Given the description of an element on the screen output the (x, y) to click on. 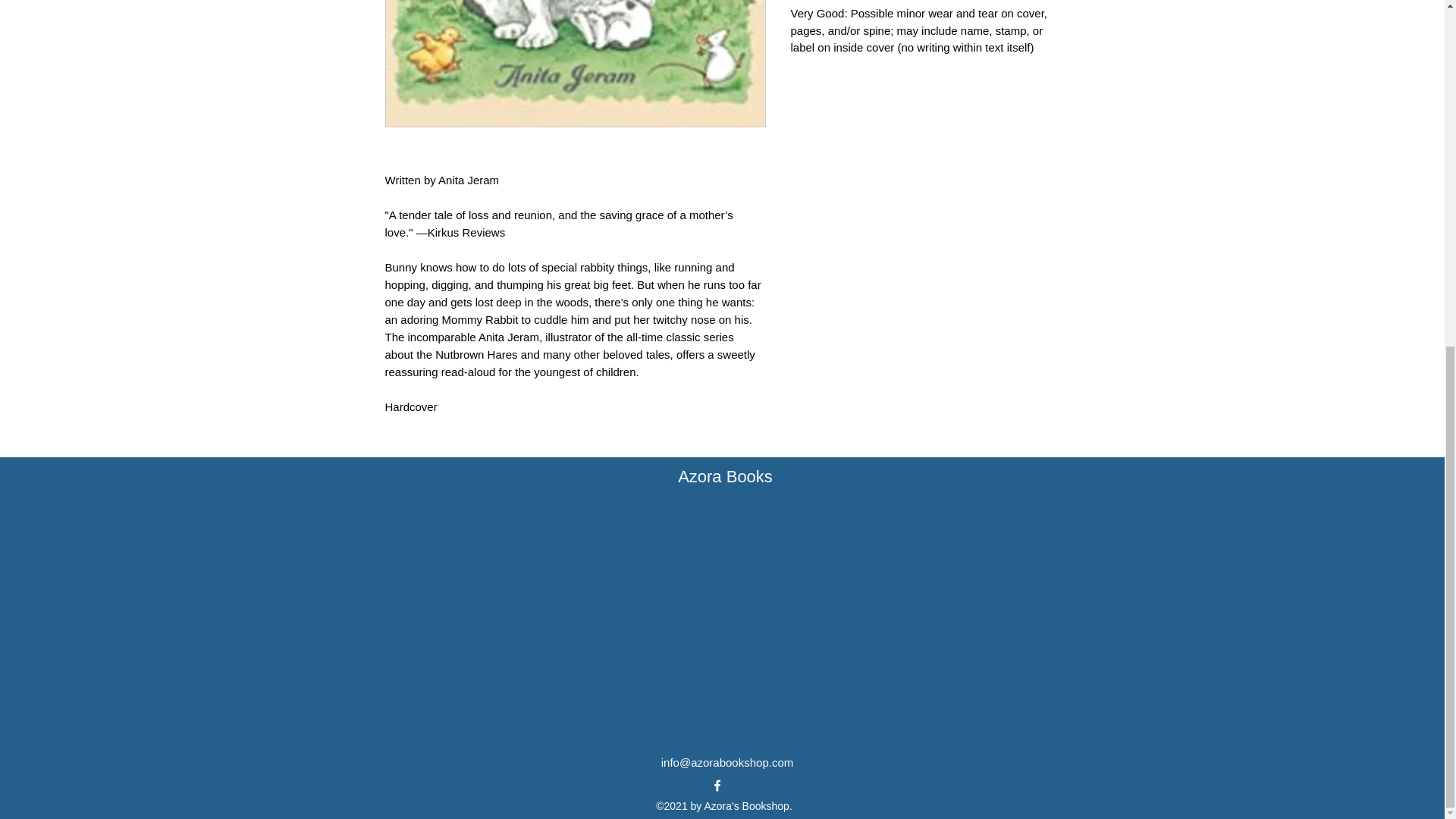
Azora Books (725, 476)
Smile.io Rewards Program Launcher (69, 186)
